Given the description of an element on the screen output the (x, y) to click on. 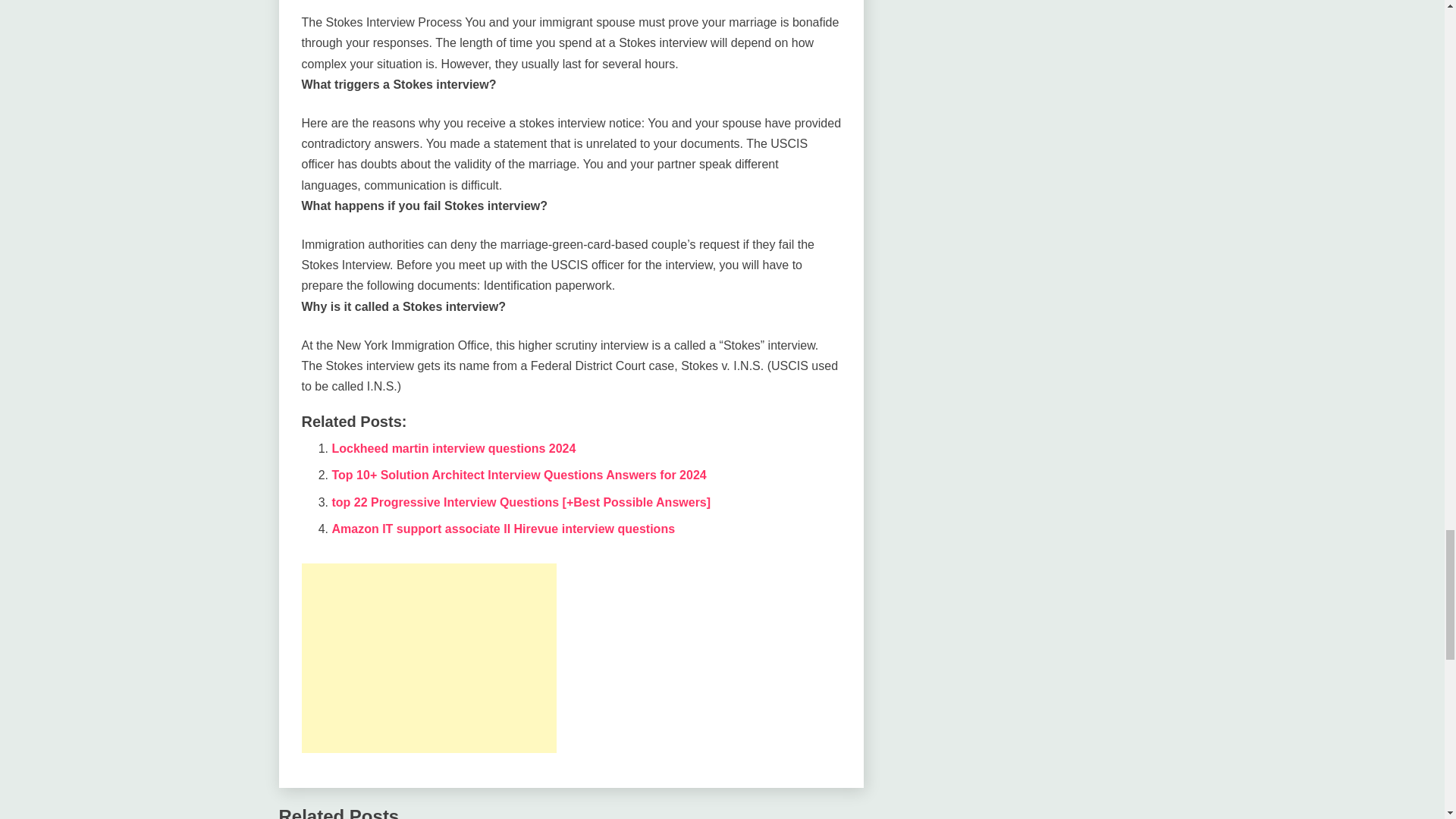
Amazon IT support associate II Hirevue interview questions (503, 528)
Lockheed martin interview questions 2024 (453, 448)
Lockheed martin interview questions 2024 (453, 448)
Amazon IT support associate II Hirevue interview questions (503, 528)
